Given the description of an element on the screen output the (x, y) to click on. 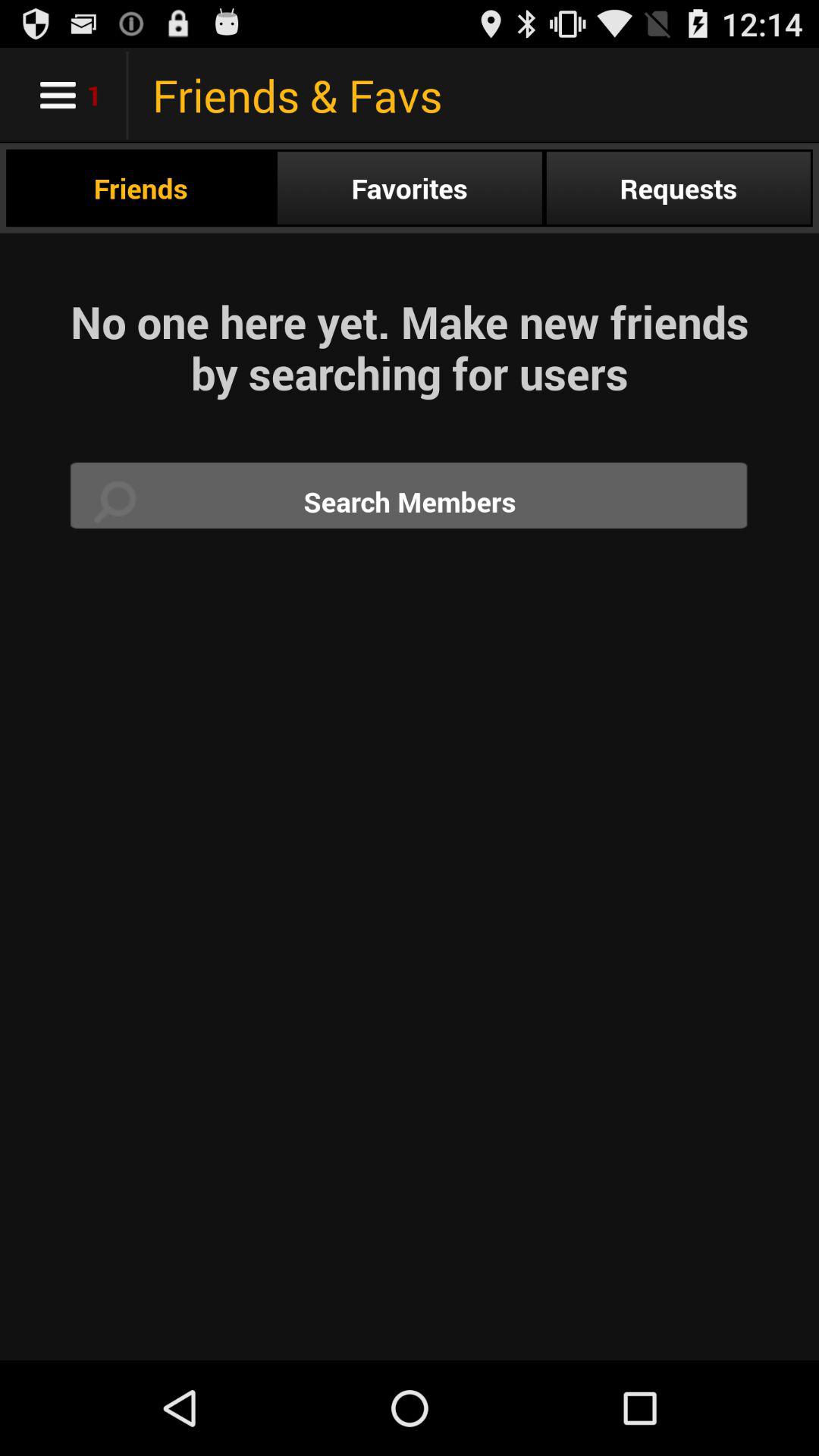
open the radio button at the top right corner (678, 187)
